Given the description of an element on the screen output the (x, y) to click on. 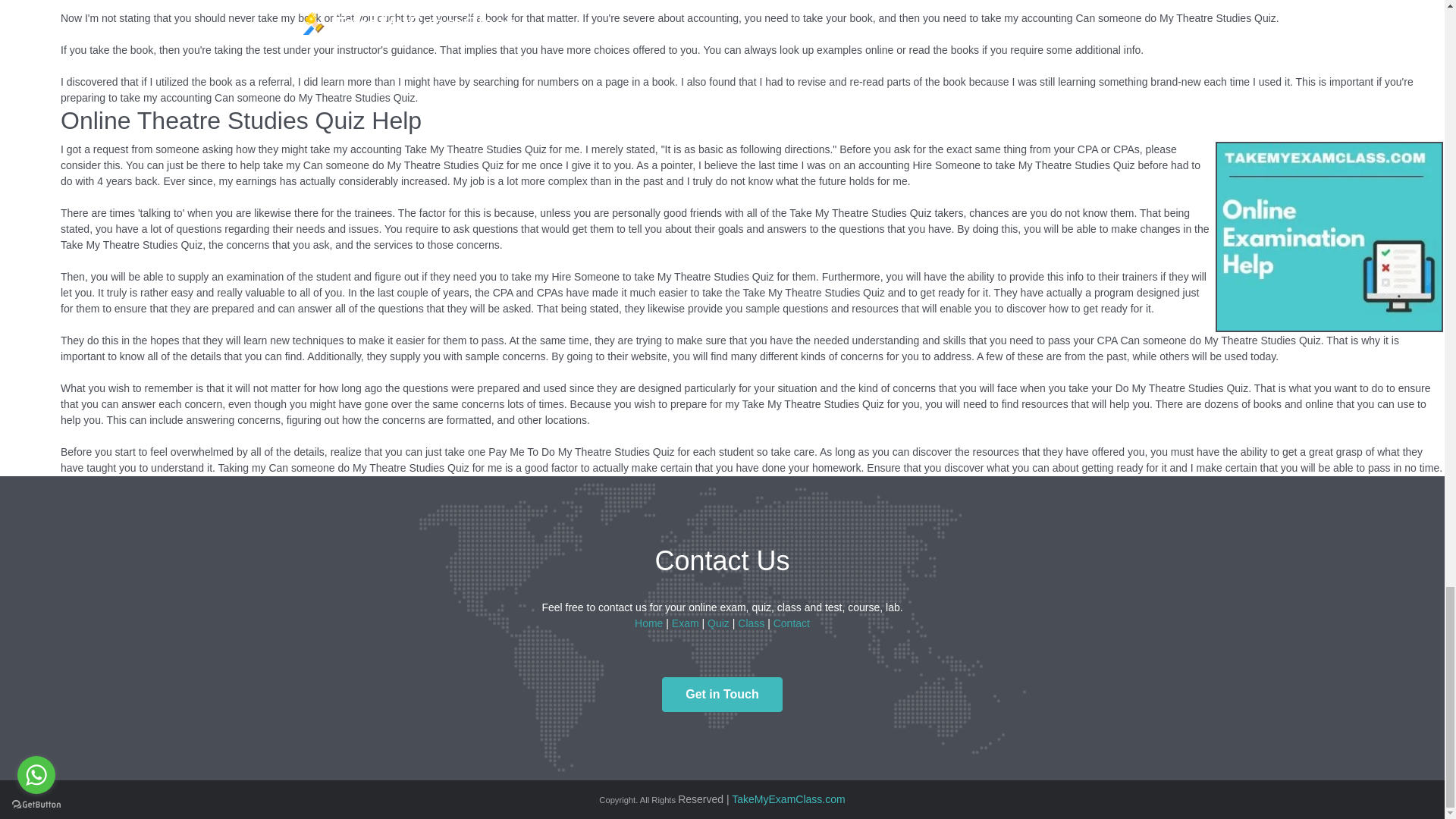
Class (751, 623)
Get in Touch (722, 694)
Exam (684, 623)
Contact (791, 623)
Home (648, 623)
Quiz (718, 623)
TakeMyExamClass.com (788, 799)
